Given the description of an element on the screen output the (x, y) to click on. 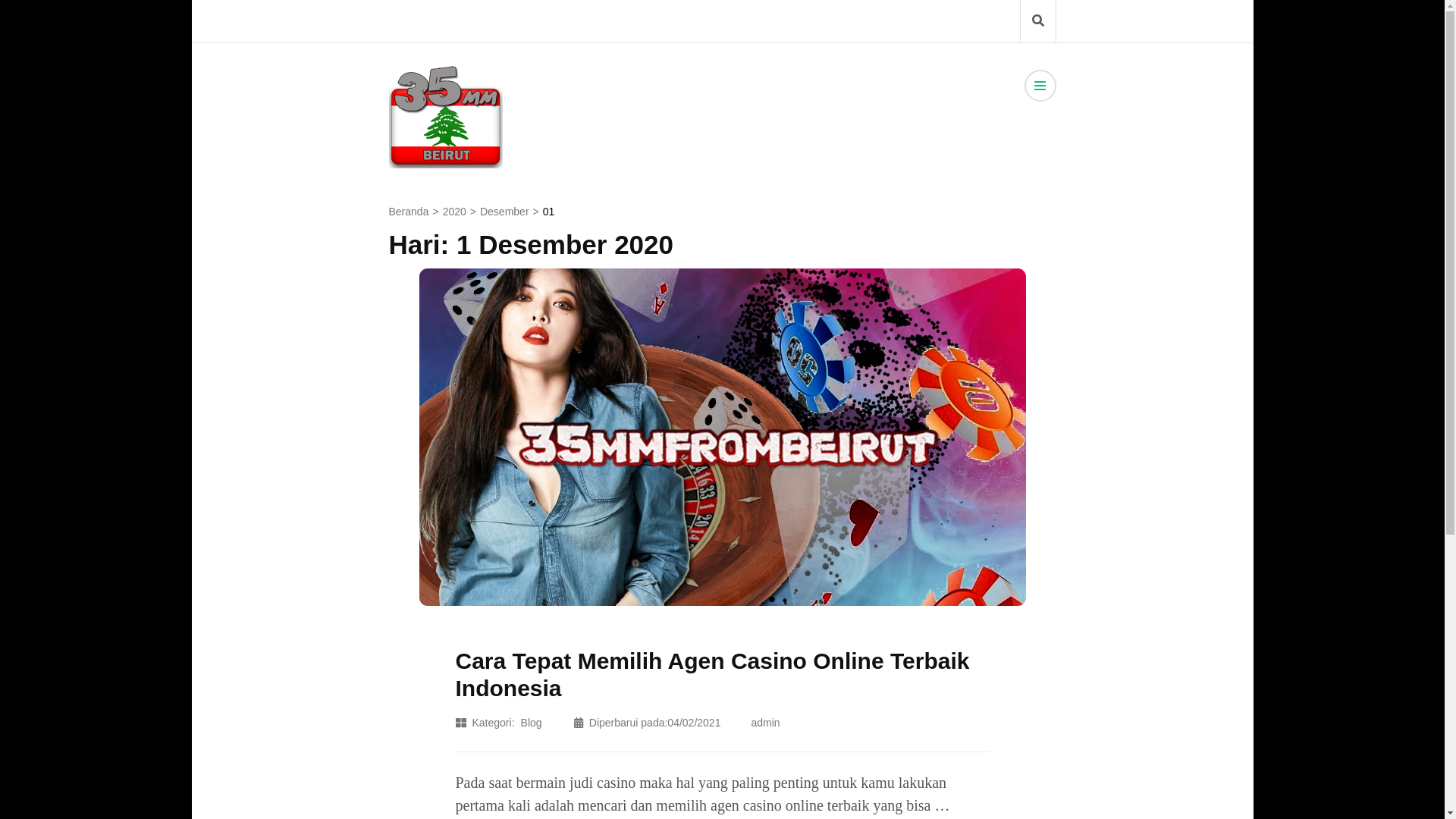
Blog Element type: text (531, 723)
Beranda Element type: text (408, 211)
Desember Element type: text (504, 211)
admin Element type: text (764, 722)
Cara Tepat Memilih Agen Casino Online Terbaik Indonesia Element type: text (712, 674)
2020 Element type: text (454, 211)
04/02/2021 Element type: text (693, 722)
